Given the description of an element on the screen output the (x, y) to click on. 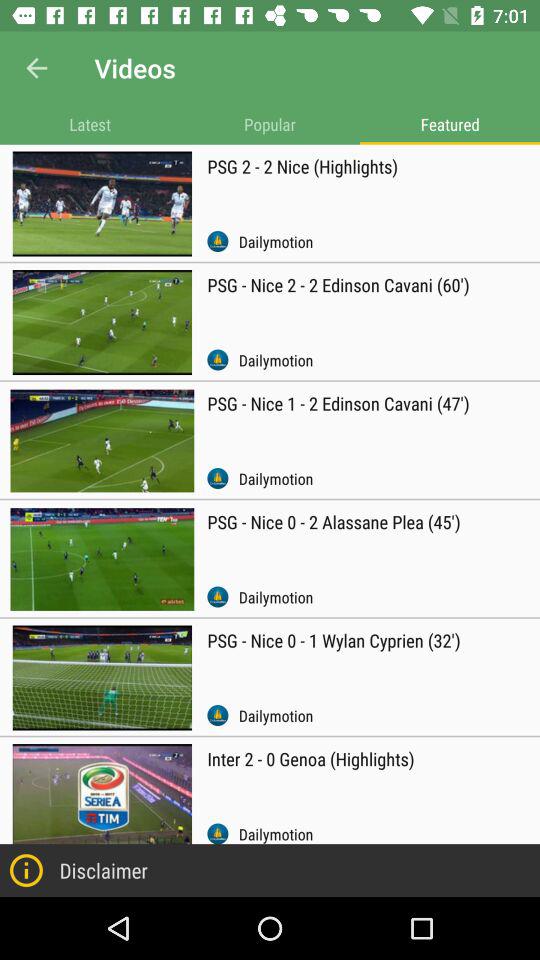
turn off icon below videos (270, 124)
